Given the description of an element on the screen output the (x, y) to click on. 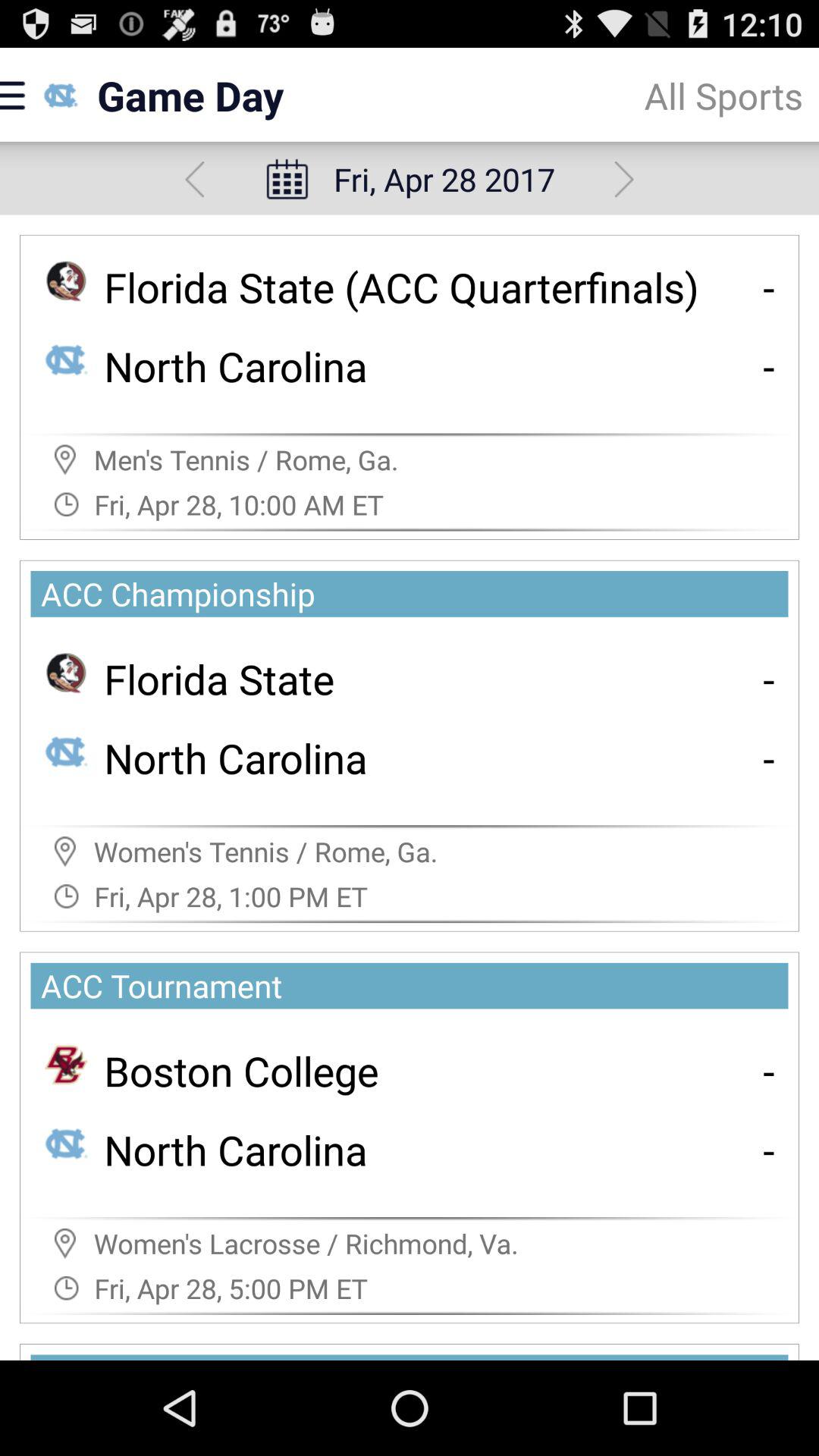
jump to acc tournament icon (414, 985)
